Given the description of an element on the screen output the (x, y) to click on. 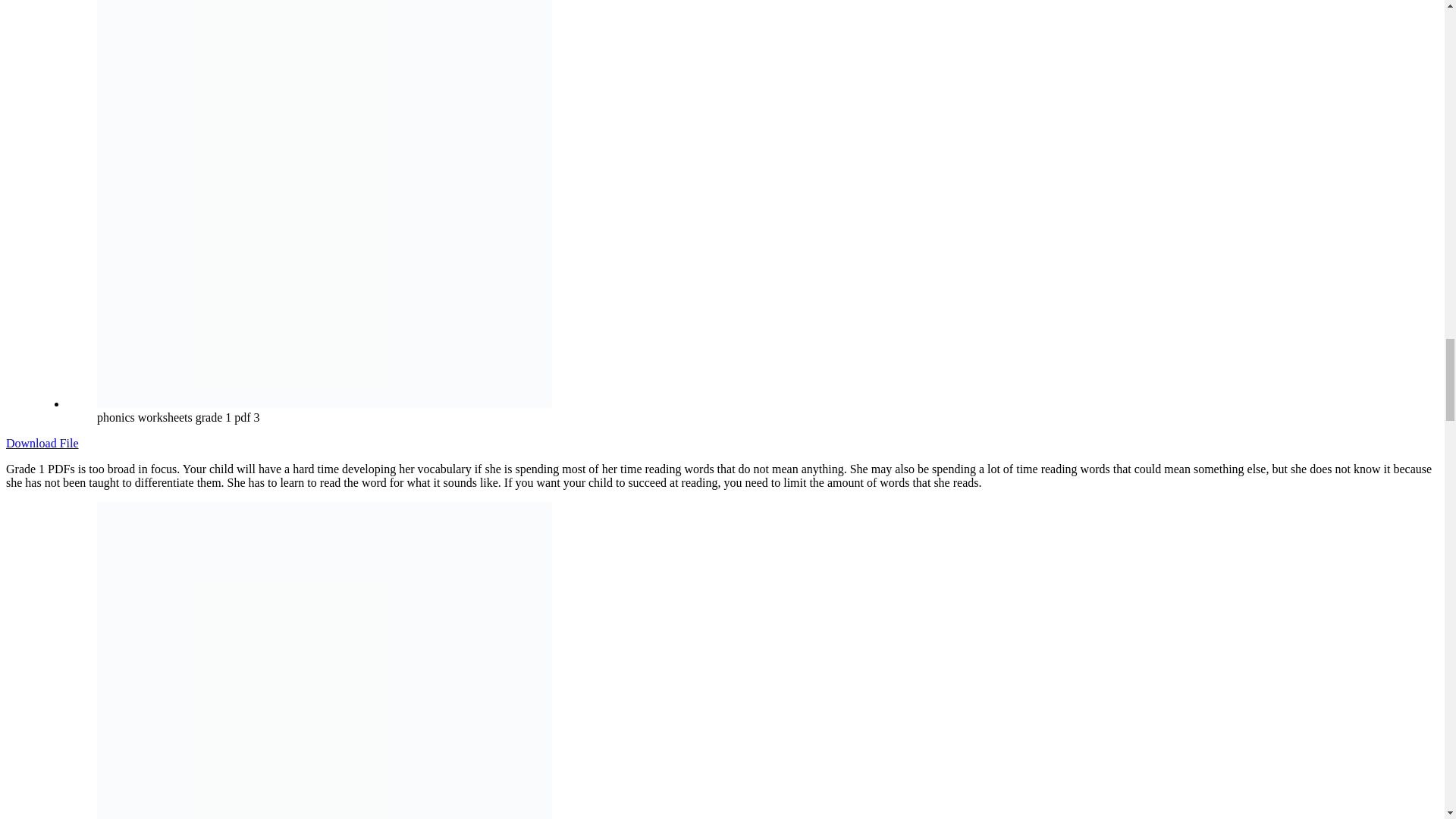
Download File (41, 442)
